Given the description of an element on the screen output the (x, y) to click on. 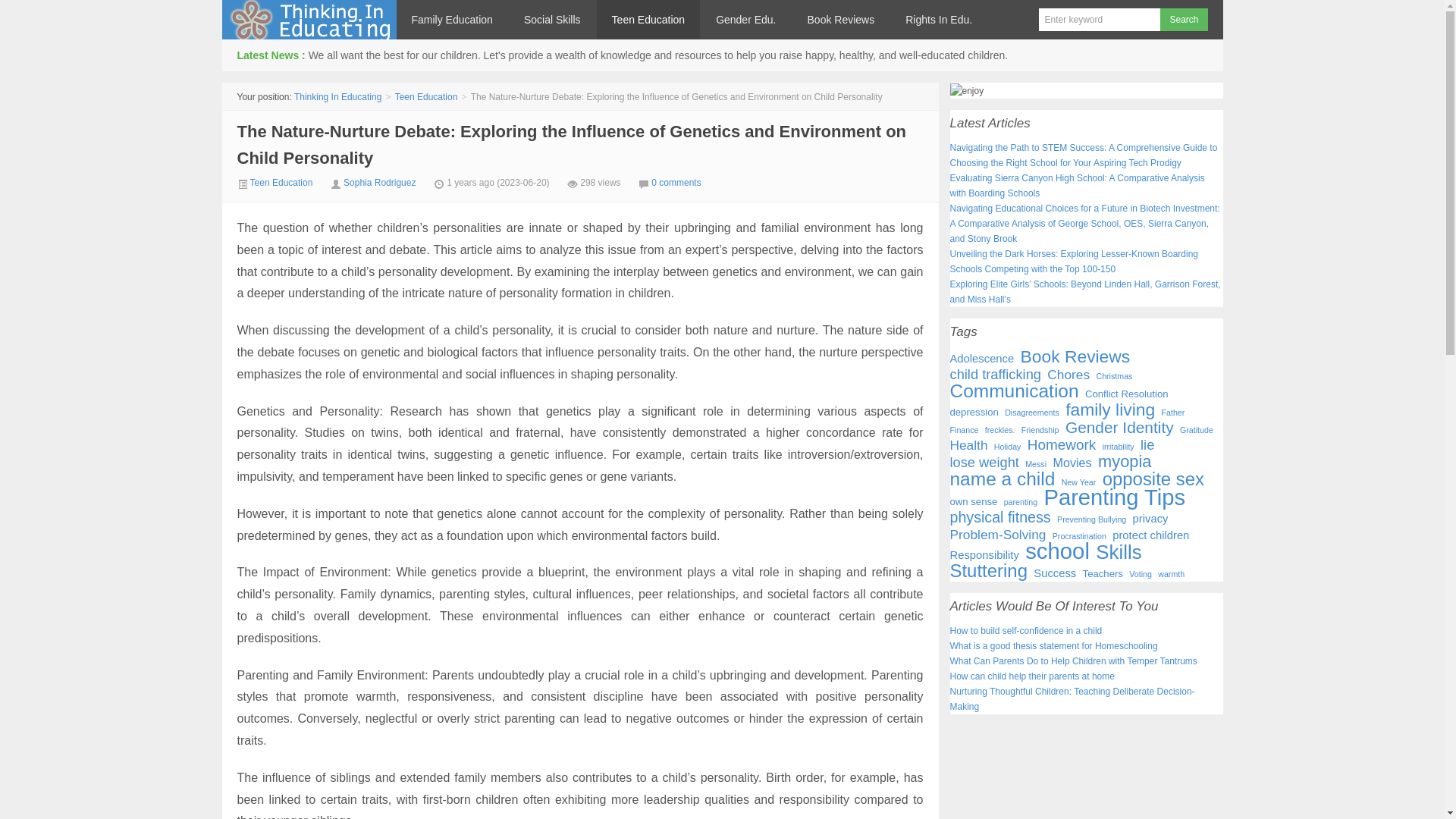
Gender Edu. (745, 19)
Thinking In Educating (308, 19)
Book Reviews (840, 19)
Teen Education (426, 96)
Search (1183, 19)
Thinking In Educating (337, 96)
Rights In Edu. (938, 19)
